Given the description of an element on the screen output the (x, y) to click on. 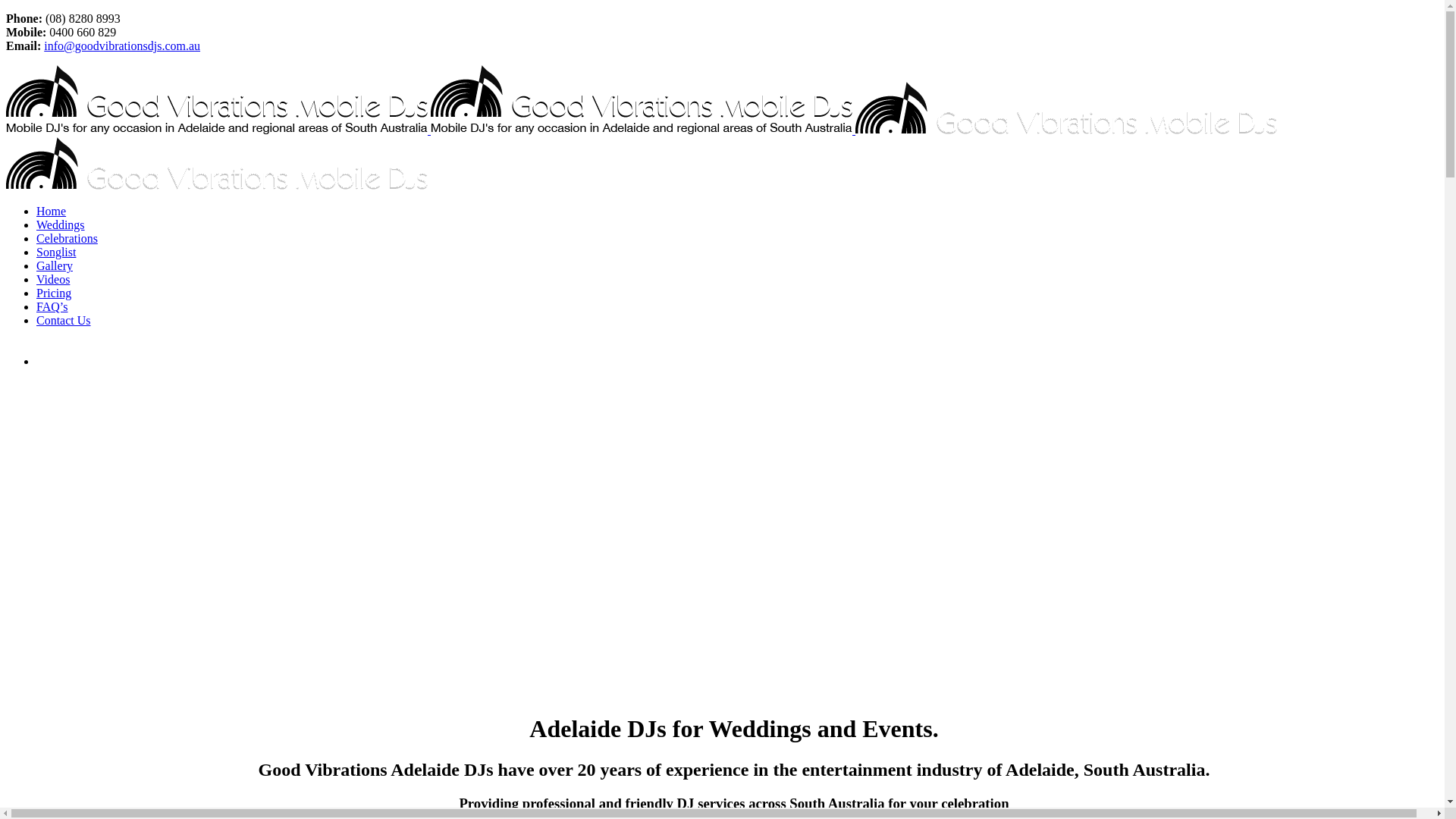
Contact Us Element type: text (63, 319)
Celebrations Element type: text (66, 238)
Videos Element type: text (52, 279)
Weddings Element type: text (60, 224)
info@goodvibrationsdjs.com.au Element type: text (121, 45)
Songlist Element type: text (55, 251)
Gallery Element type: text (54, 265)
Home Element type: text (50, 210)
Pricing Element type: text (53, 292)
